Given the description of an element on the screen output the (x, y) to click on. 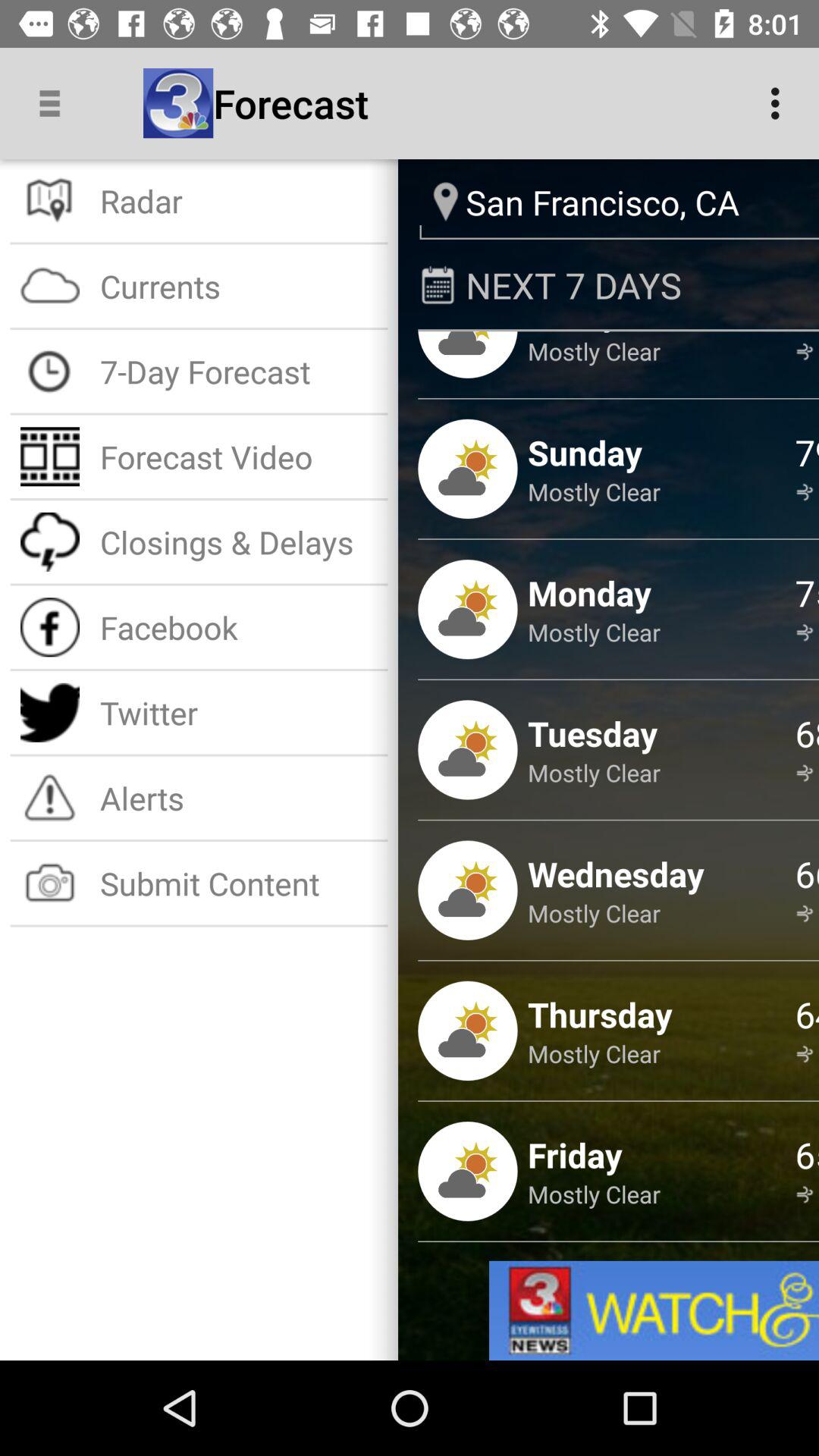
open the wednesday icon (615, 873)
